Given the description of an element on the screen output the (x, y) to click on. 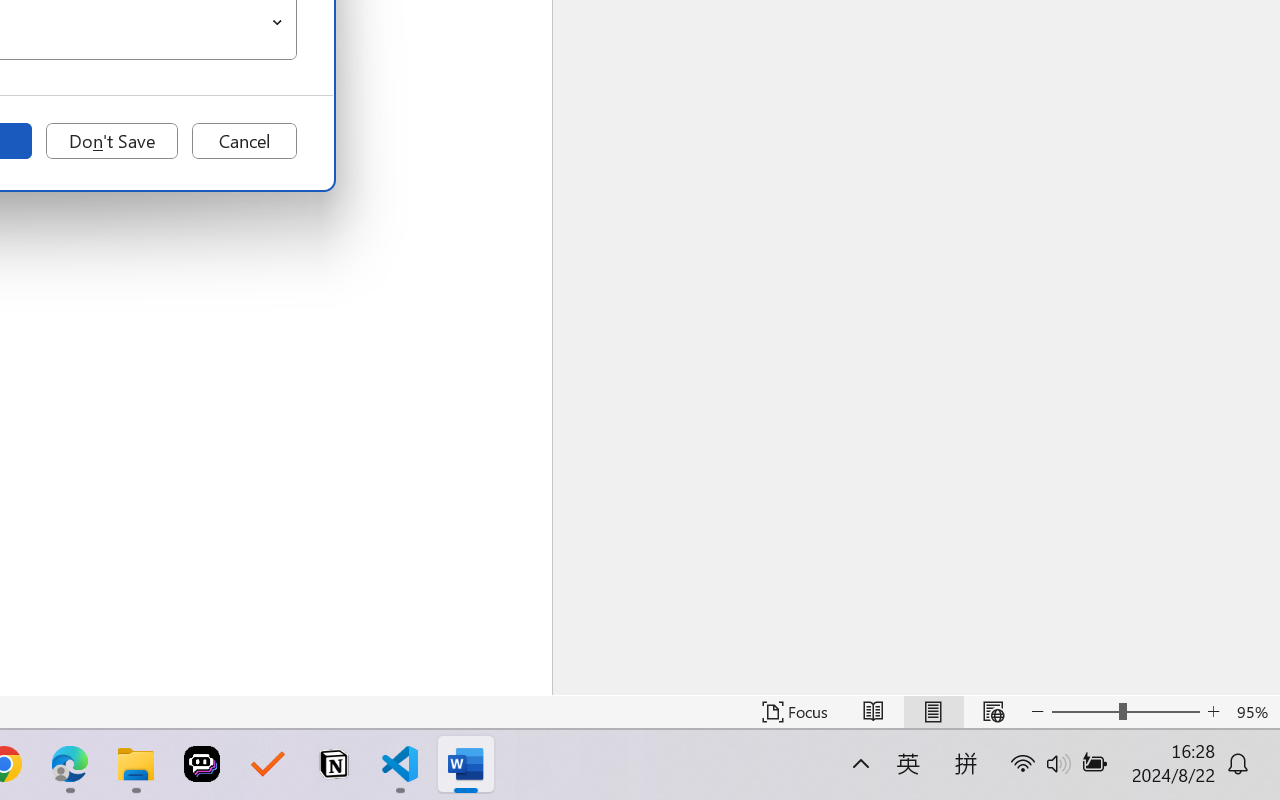
Notion (333, 764)
Poe (201, 764)
Don't Save (111, 141)
Cancel (244, 141)
